Given the description of an element on the screen output the (x, y) to click on. 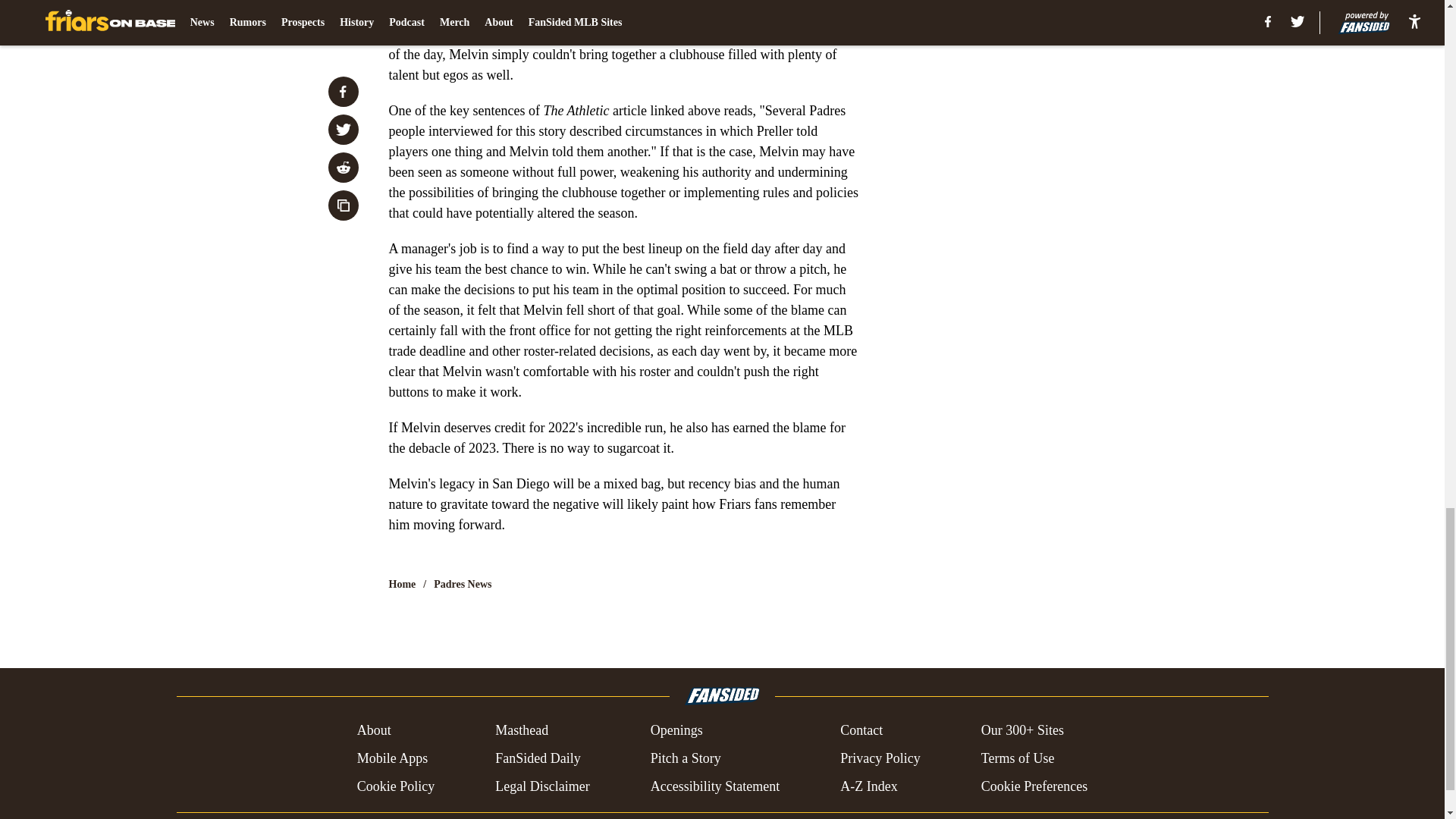
A-Z Index (868, 786)
Terms of Use (1017, 758)
Padres News (462, 584)
Openings (676, 730)
Pitch a Story (685, 758)
Privacy Policy (880, 758)
About (373, 730)
Legal Disclaimer (542, 786)
Home (401, 584)
Accessibility Statement (714, 786)
Rumors of dysfunction in the organization in mid-September (613, 10)
Mobile Apps (392, 758)
Masthead (521, 730)
FanSided Daily (537, 758)
Cookie Policy (395, 786)
